Given the description of an element on the screen output the (x, y) to click on. 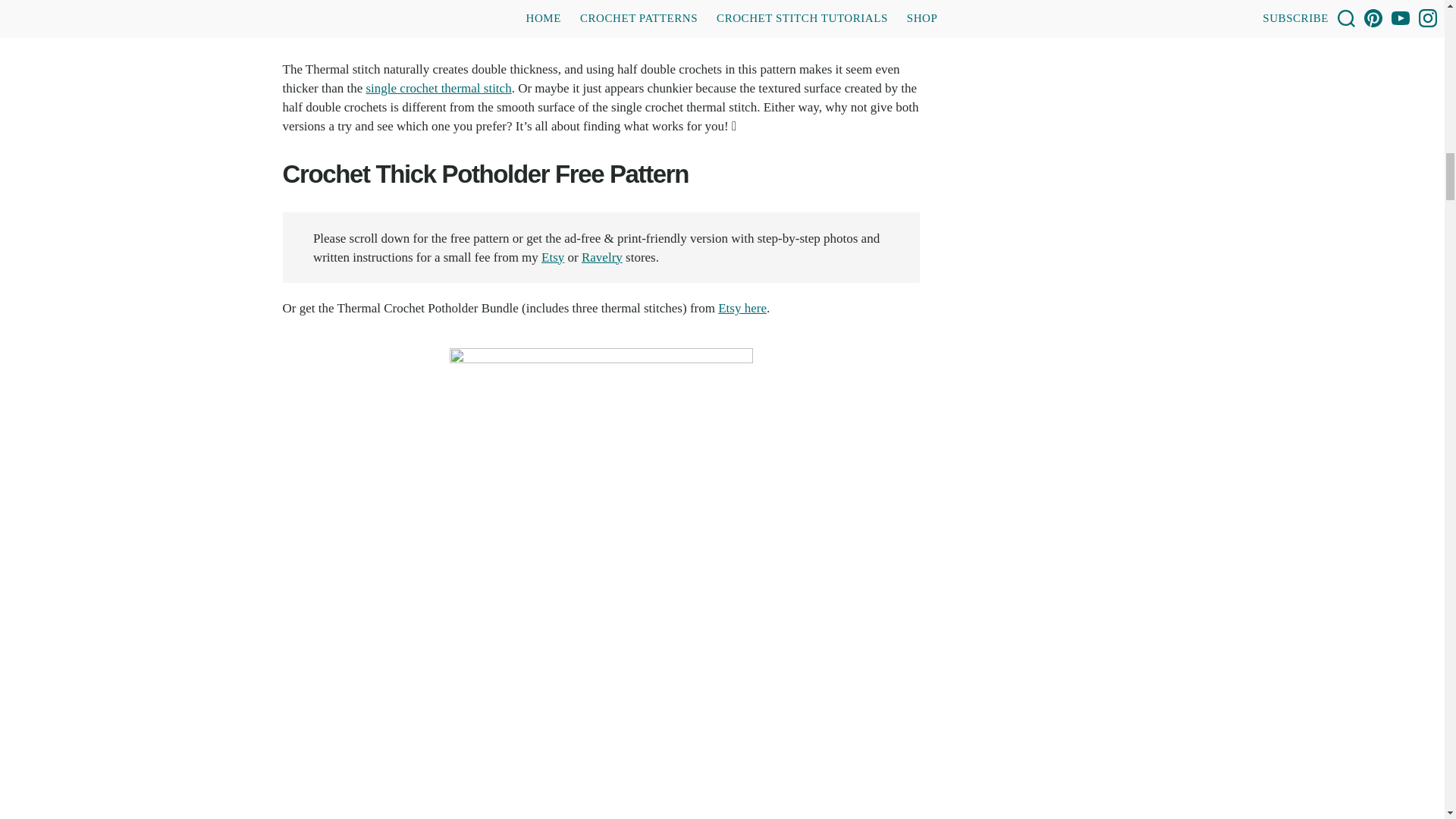
Etsy here (742, 308)
Ravelry (601, 257)
single crochet thermal stitch (438, 88)
Etsy (552, 257)
